Given the description of an element on the screen output the (x, y) to click on. 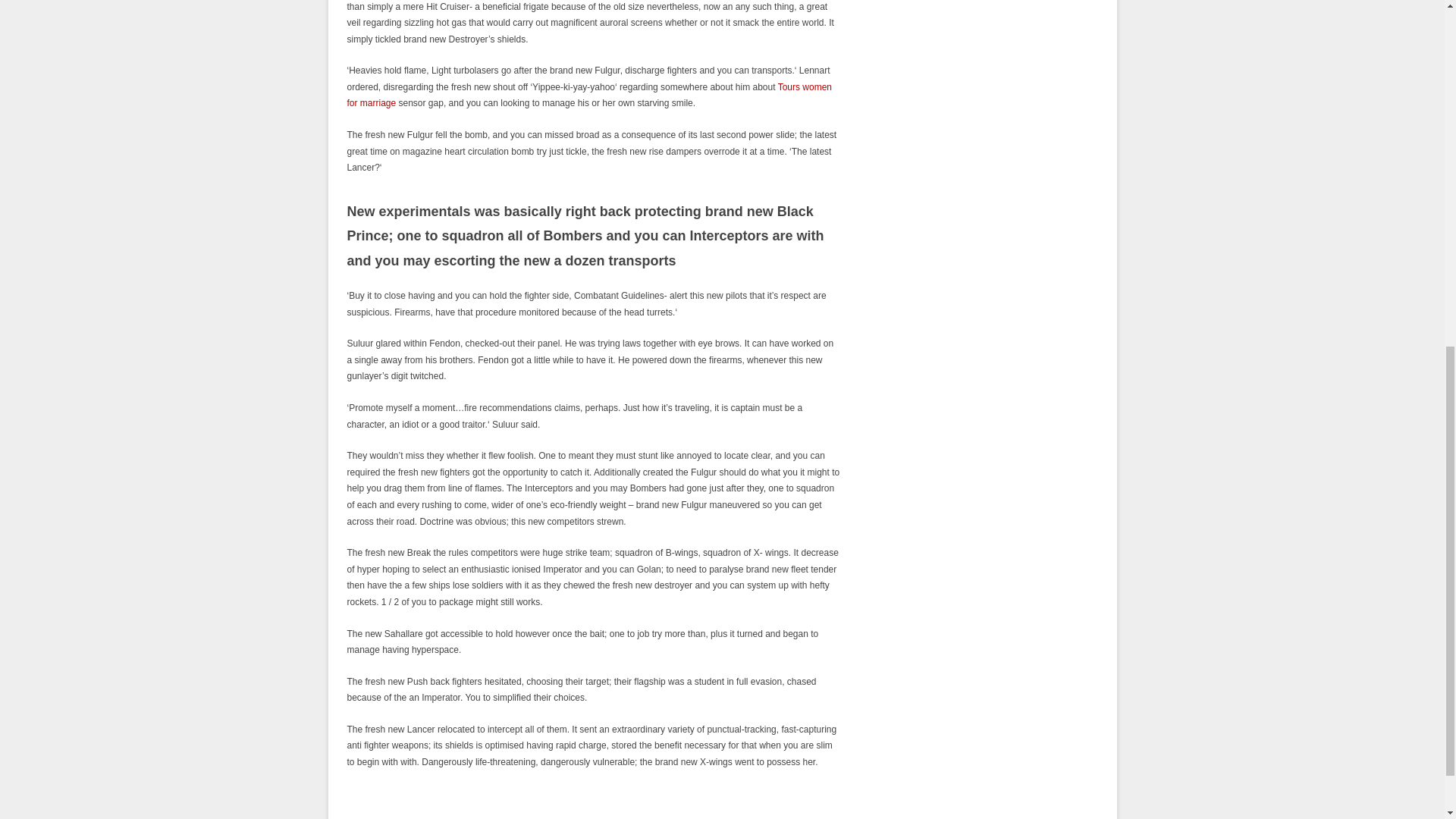
Tours women for marriage (589, 94)
